Given the description of an element on the screen output the (x, y) to click on. 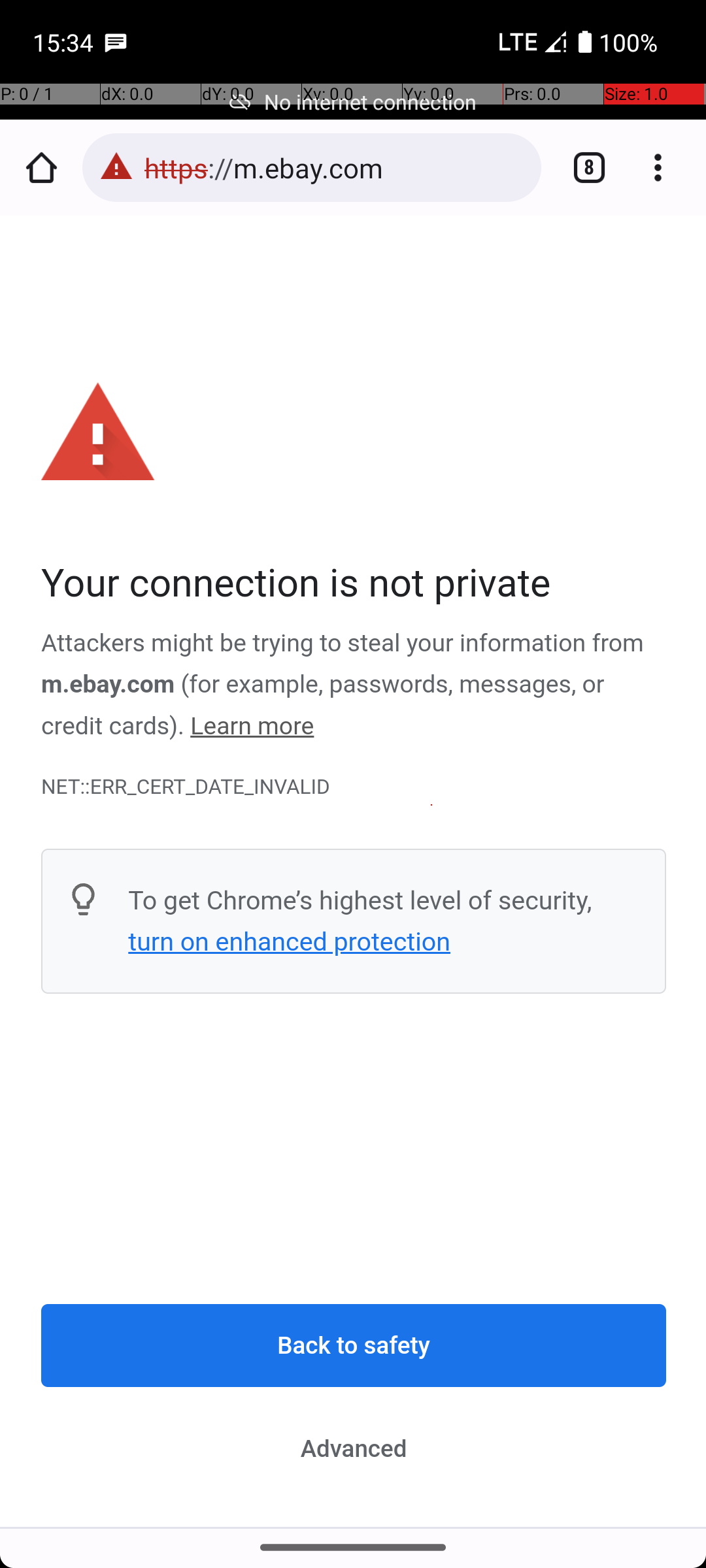
https://m.ebay.com Element type: android.widget.EditText (335, 167)
m.ebay.com Element type: android.widget.TextView (108, 684)
